Given the description of an element on the screen output the (x, y) to click on. 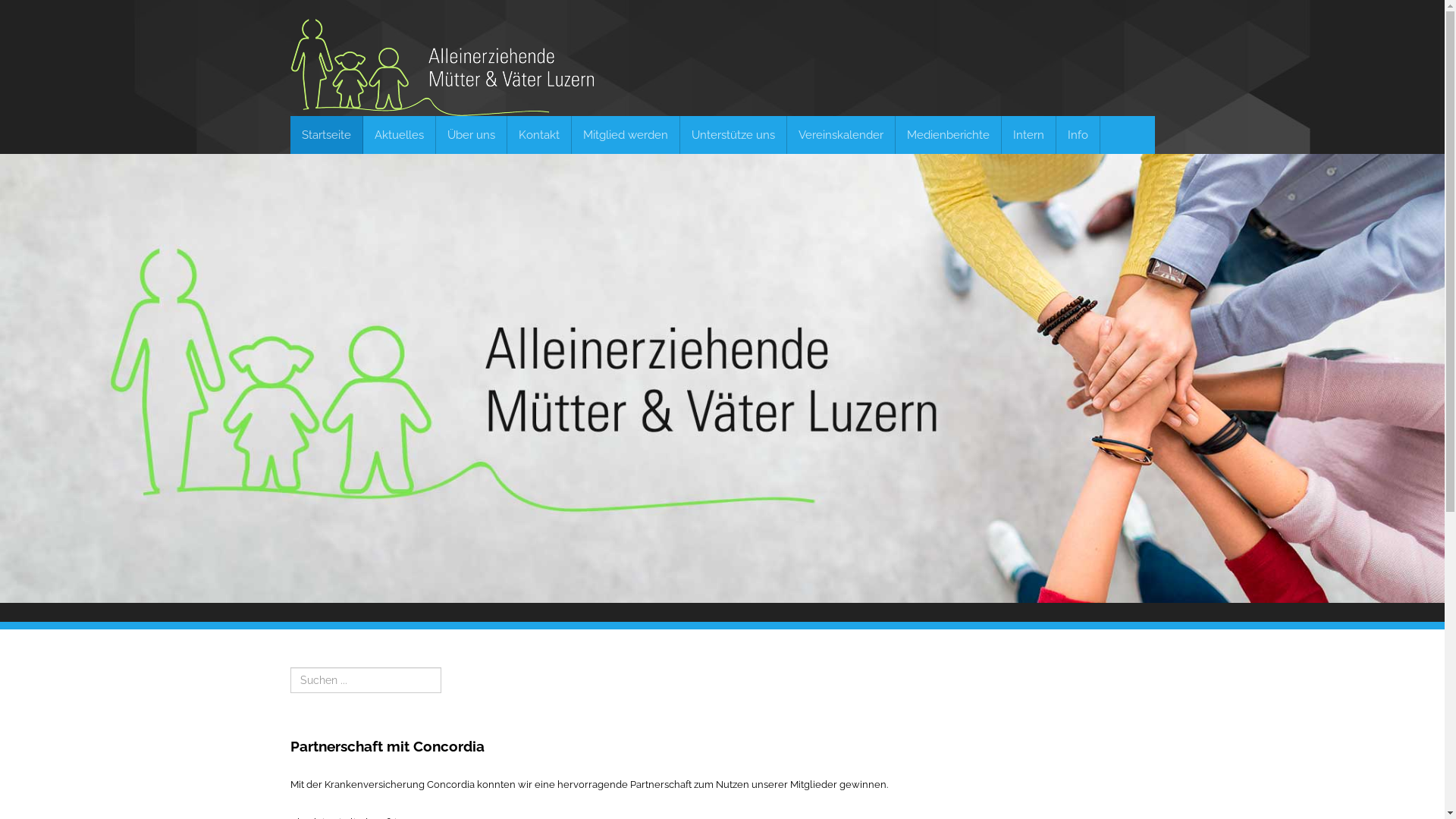
Aktuelles Element type: text (398, 134)
Mitglied werden Element type: text (625, 134)
Intern Element type: text (1028, 134)
Info Element type: text (1077, 134)
Startseite Element type: text (325, 134)
Kontakt Element type: text (538, 134)
Vereinskalender Element type: text (841, 134)
Medienberichte Element type: text (947, 134)
